Given the description of an element on the screen output the (x, y) to click on. 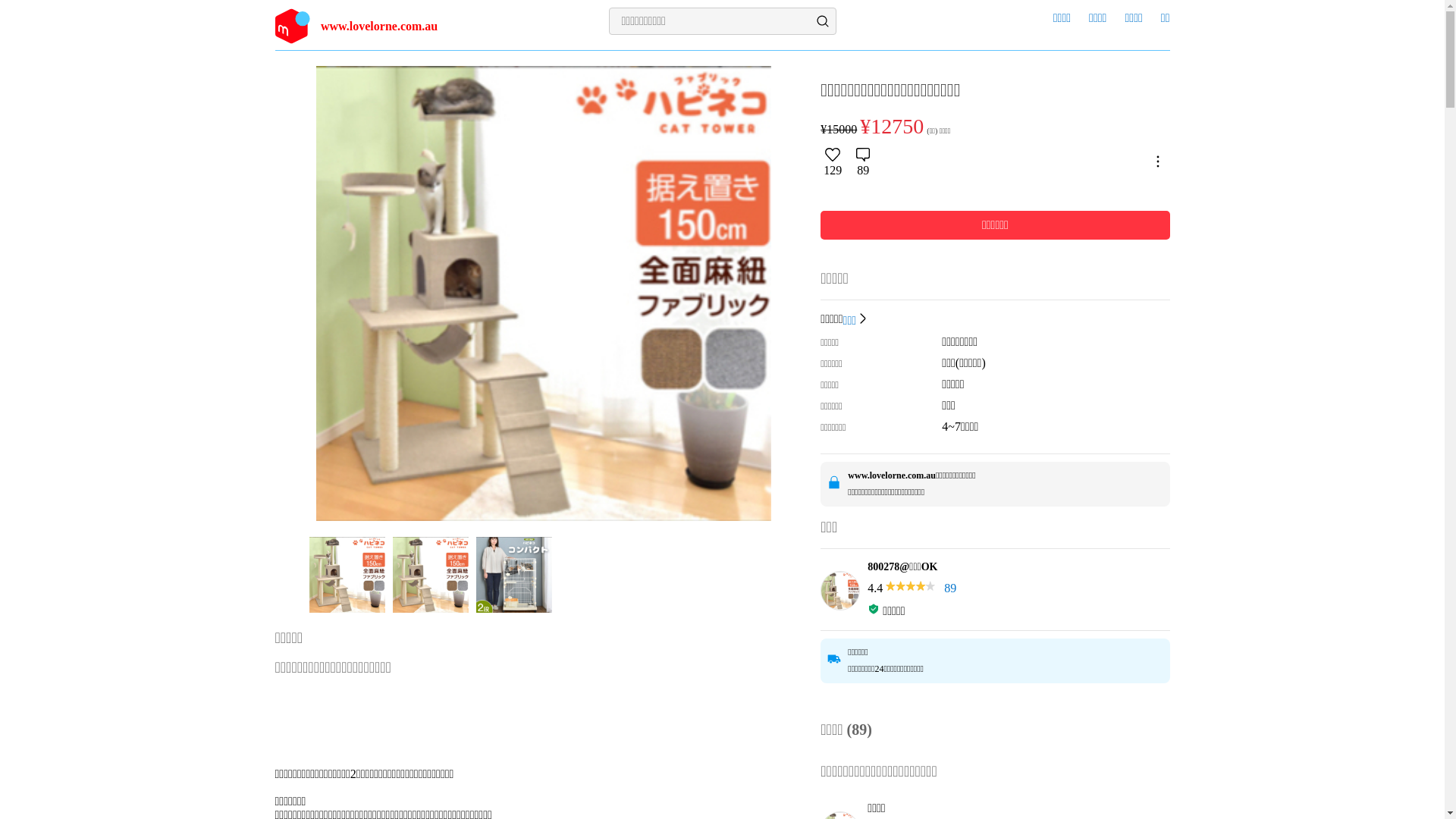
www.lovelorne.com.au Element type: text (388, 25)
